Given the description of an element on the screen output the (x, y) to click on. 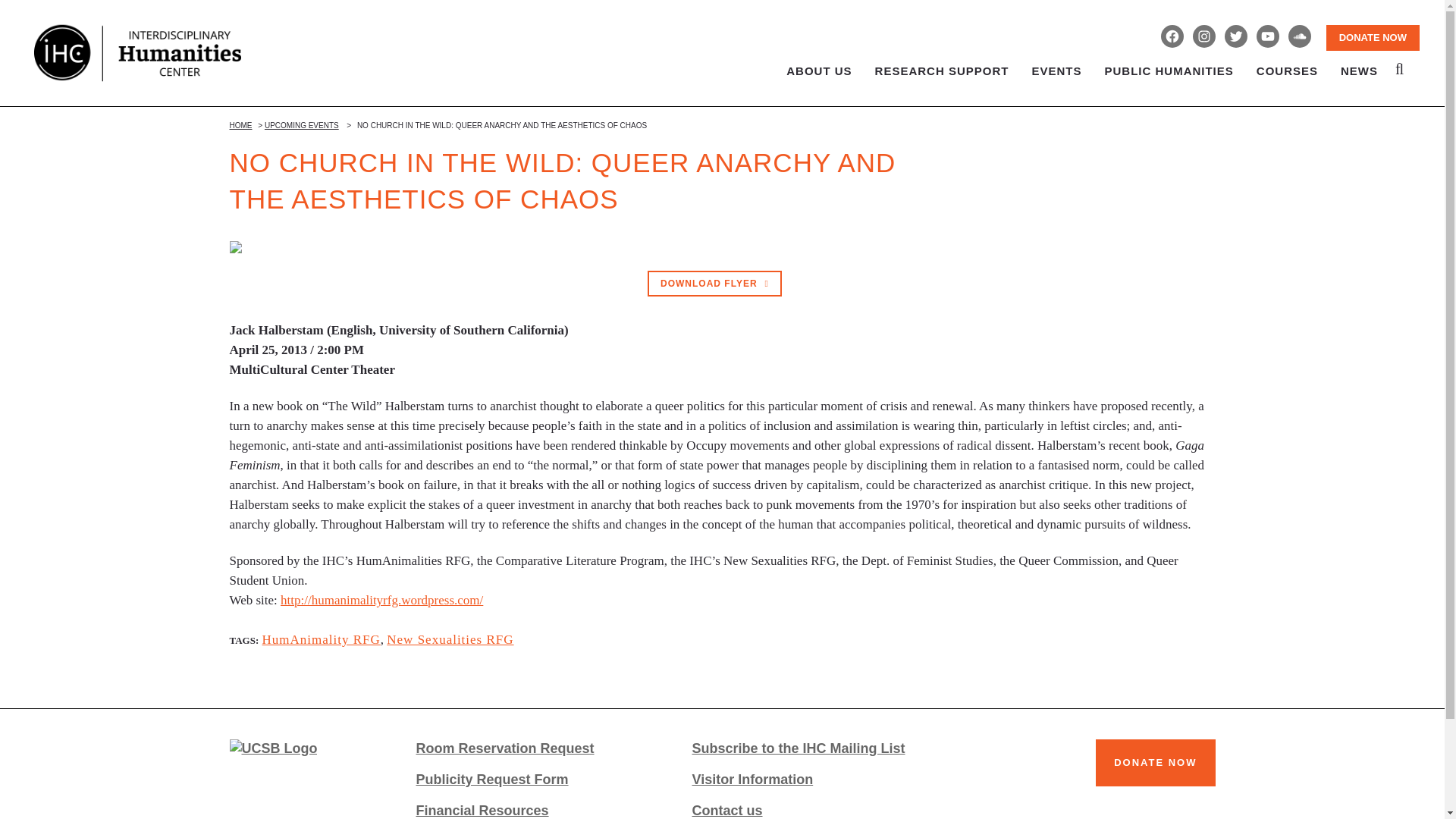
Contact us (812, 810)
YouTube (1267, 36)
Twitter (1235, 36)
Subscribe to the IHC Mailing List (812, 748)
HumAnimality RFG (321, 639)
Financial Resources (534, 810)
Room Reservation Request (534, 748)
Instagram (1203, 36)
DOWNLOAD FLYER (714, 283)
DONATE NOW (1372, 37)
